Given the description of an element on the screen output the (x, y) to click on. 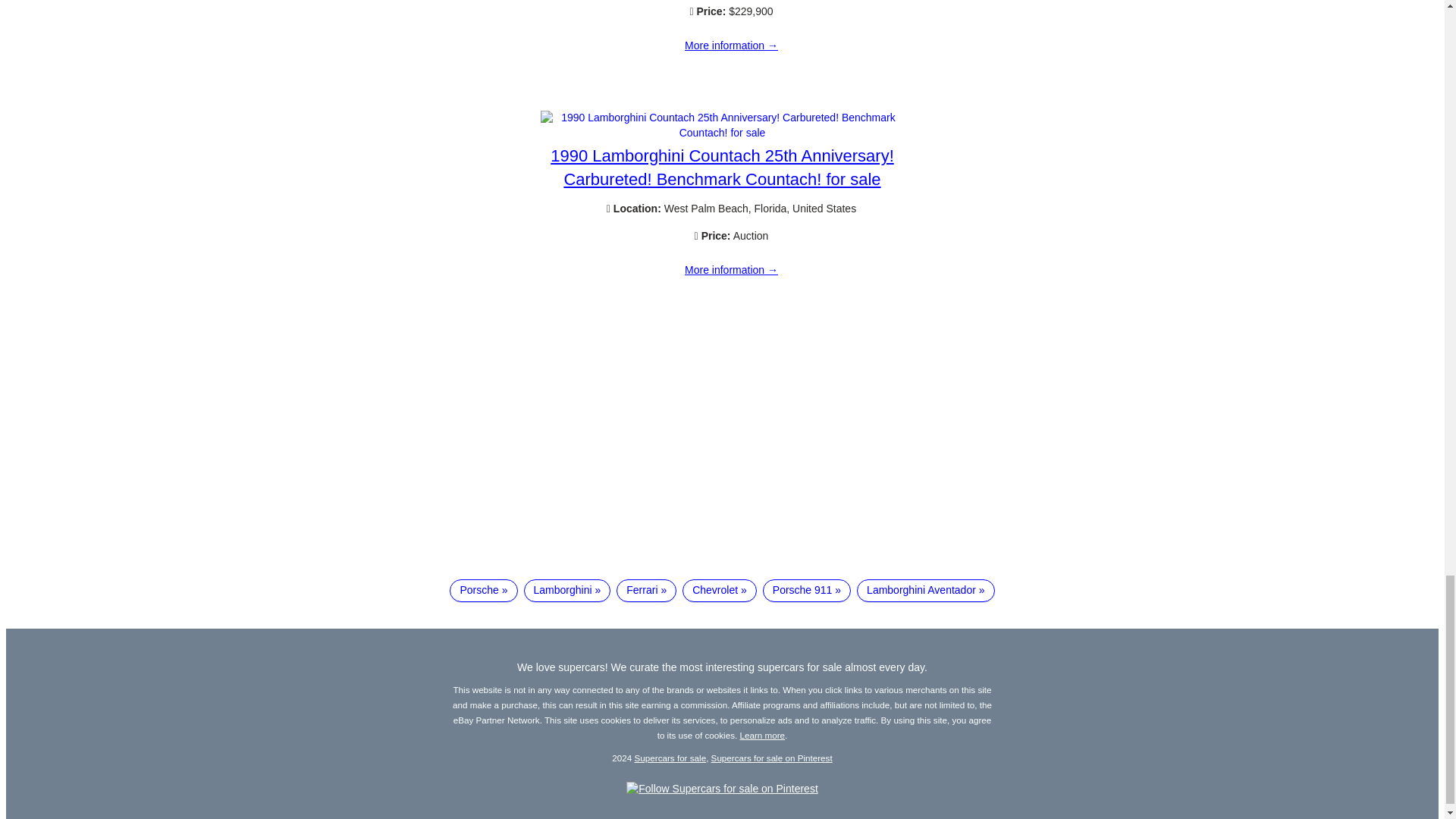
Lamborghini Aventador (925, 590)
Lamborghini (567, 590)
Learn more (762, 735)
2020 Mclaren 600LT Spider for sale (731, 45)
Chevrolet (719, 590)
Supercars for sale on Pinterest (771, 757)
Follow Supercars for sale on Pinterest (722, 788)
Porsche 911 (806, 590)
Supercars for sale (670, 757)
Ferrari (646, 590)
Porsche (482, 590)
